Given the description of an element on the screen output the (x, y) to click on. 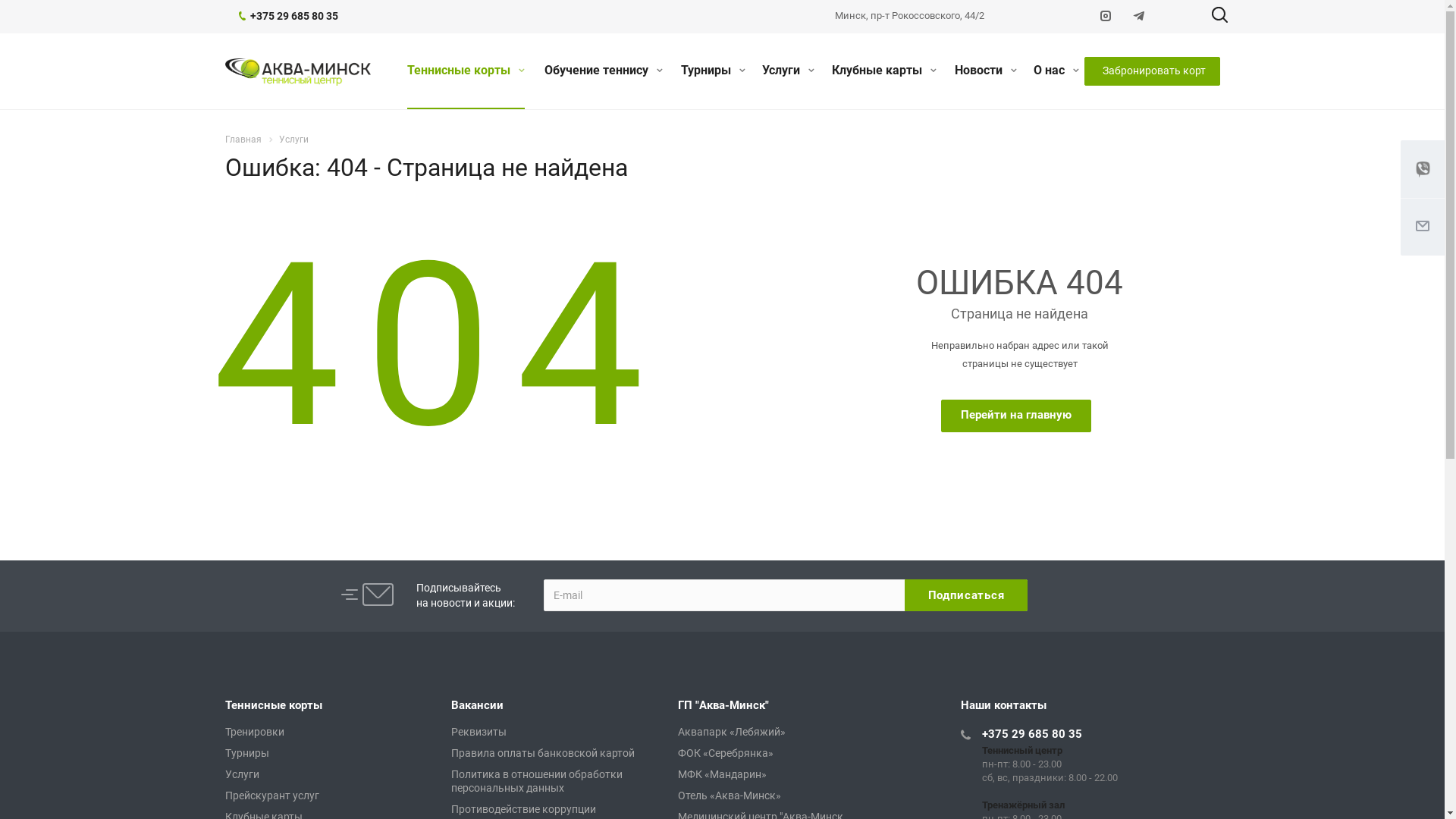
Aqua Tennis Club Element type: hover (297, 71)
Telegram Element type: hover (1138, 16)
Instagram Element type: hover (1105, 16)
+375 29 685 80 35 Element type: text (1032, 733)
